Given the description of an element on the screen output the (x, y) to click on. 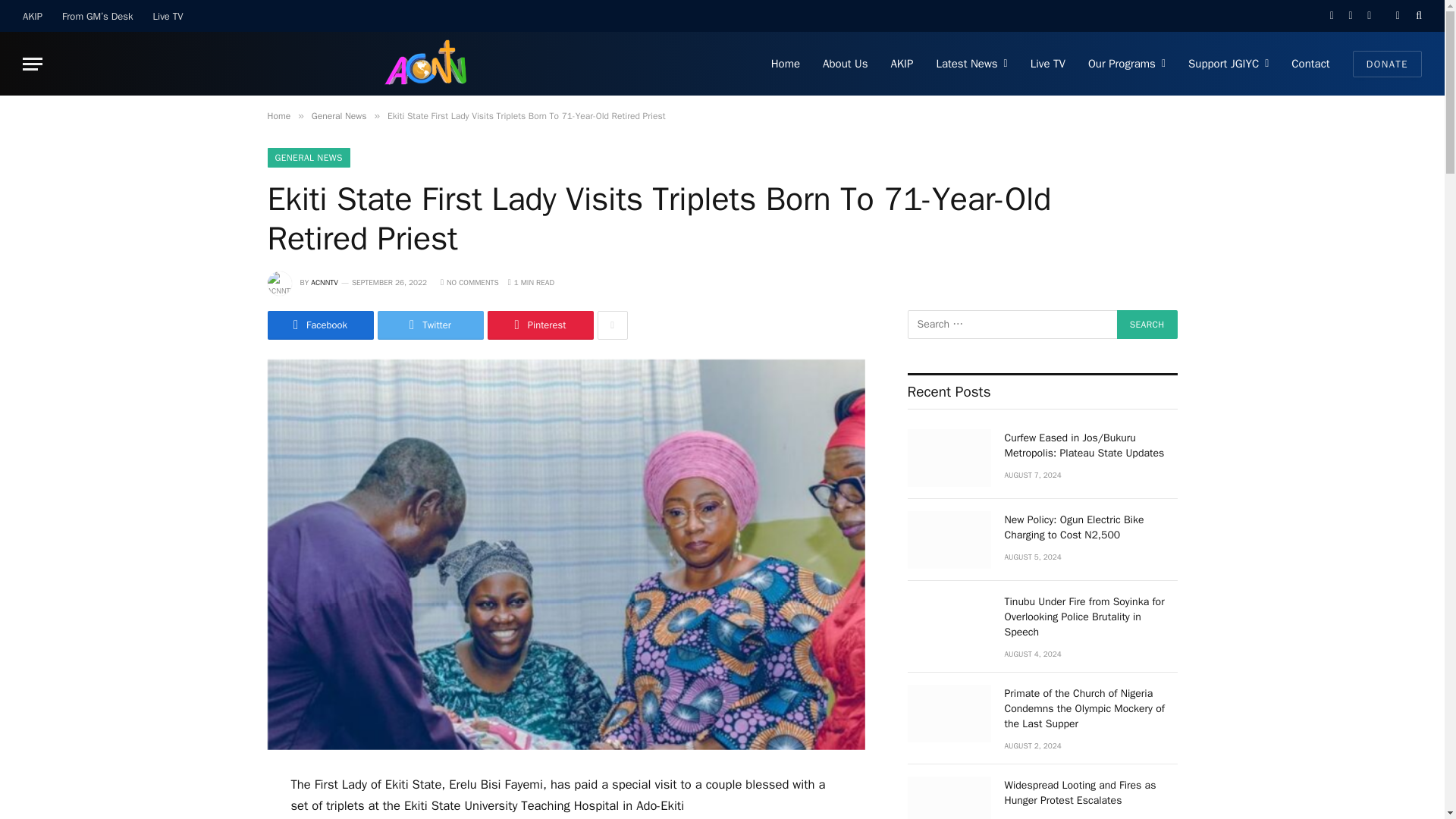
Advent Cable Network Nigeria (429, 63)
Our Programs (1126, 63)
Search (1146, 324)
Live TV (1048, 63)
Live TV (167, 15)
Latest News (970, 63)
AKIP (32, 15)
Switch to Dark Design - easier on eyes. (1397, 15)
Posts by ACNNTV (324, 282)
Search (1146, 324)
